Given the description of an element on the screen output the (x, y) to click on. 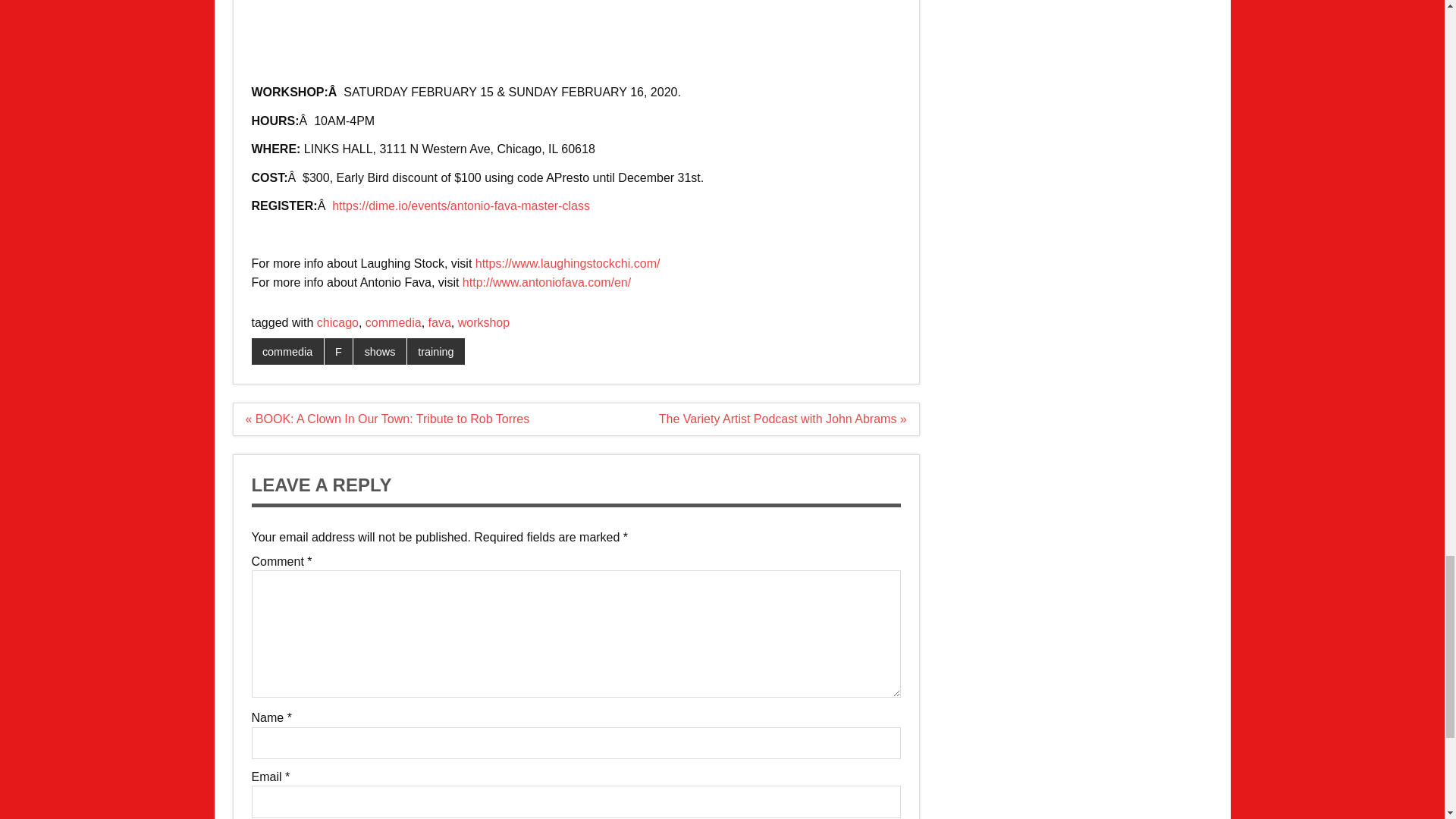
workshop (483, 322)
training (435, 351)
fava (439, 322)
F (338, 351)
commedia (393, 322)
shows (379, 351)
commedia (287, 351)
chicago (337, 322)
